Given the description of an element on the screen output the (x, y) to click on. 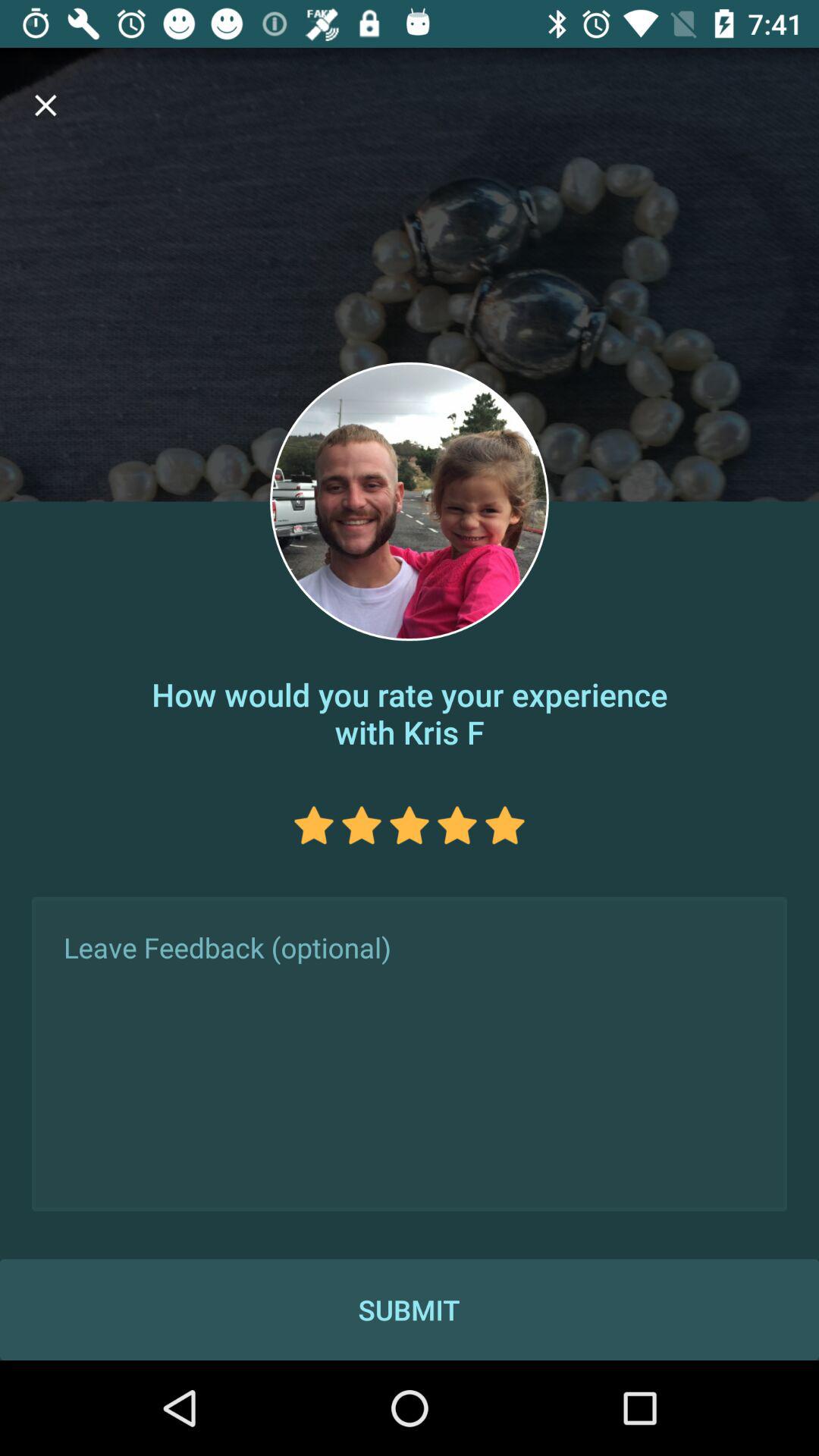
give one star rating (313, 825)
